Given the description of an element on the screen output the (x, y) to click on. 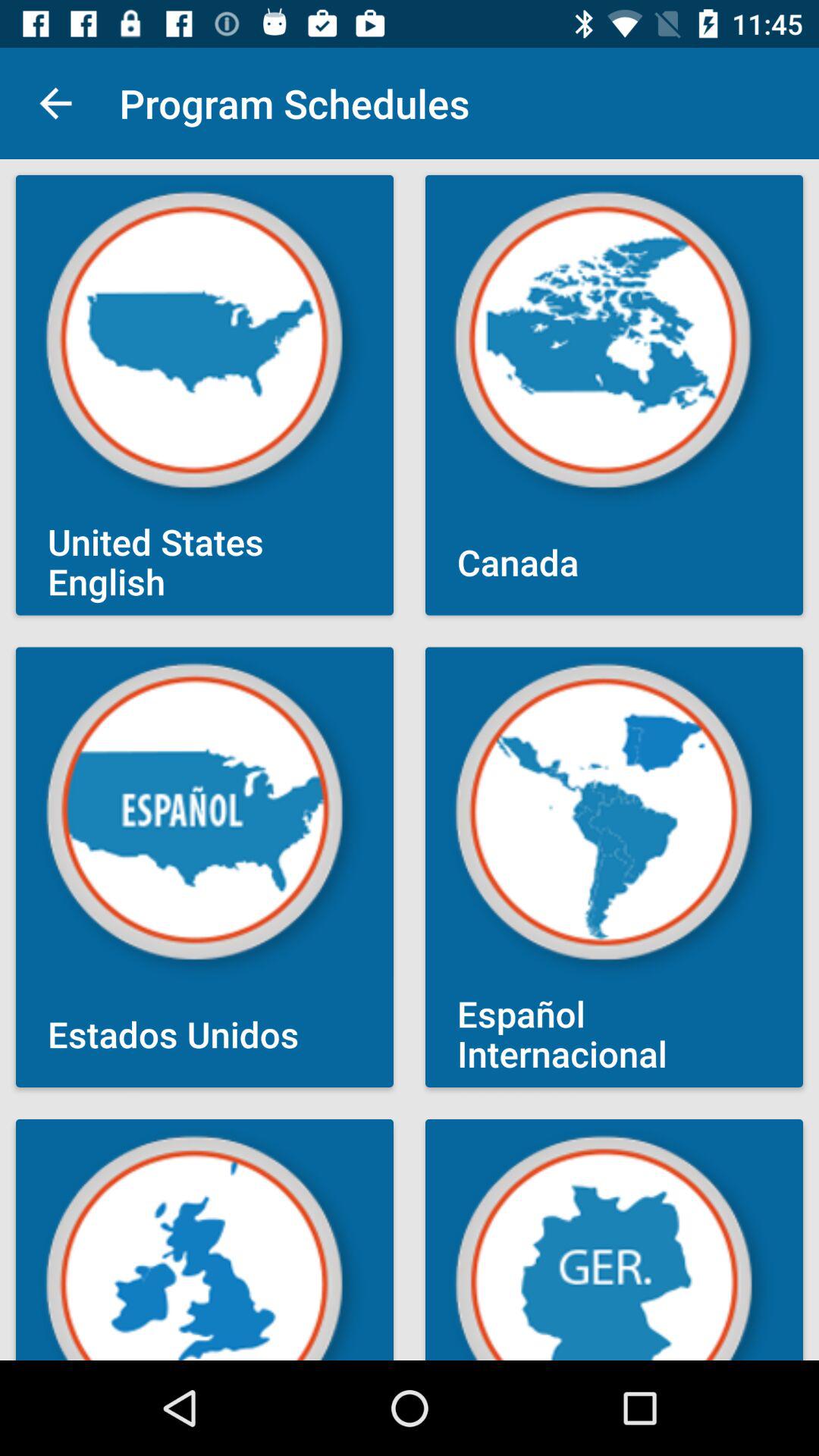
launch app to the left of program schedules icon (55, 103)
